Given the description of an element on the screen output the (x, y) to click on. 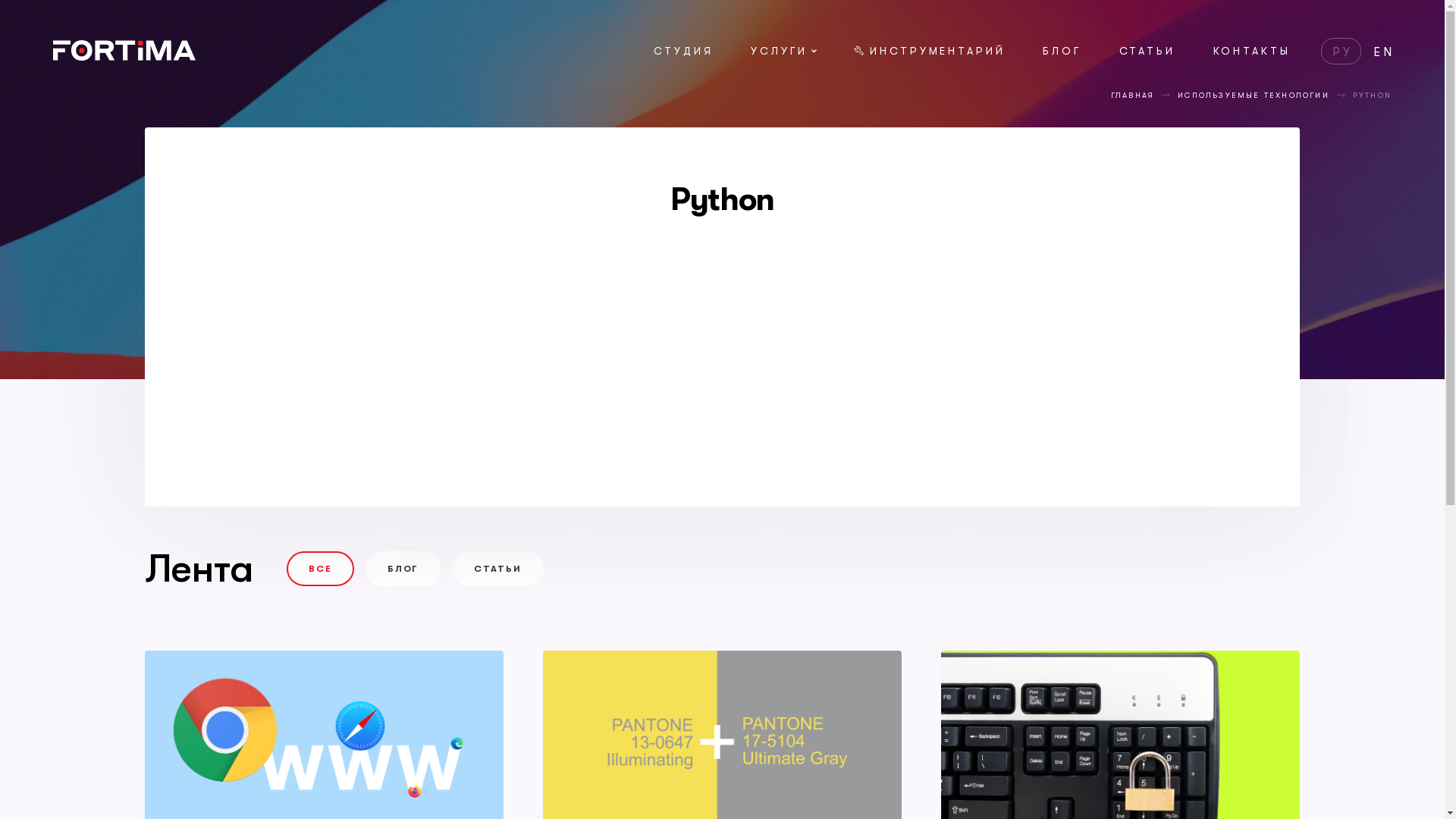
Fortima.by Element type: hover (124, 55)
EN Element type: text (1384, 52)
PYTHON Element type: text (1371, 95)
